Given the description of an element on the screen output the (x, y) to click on. 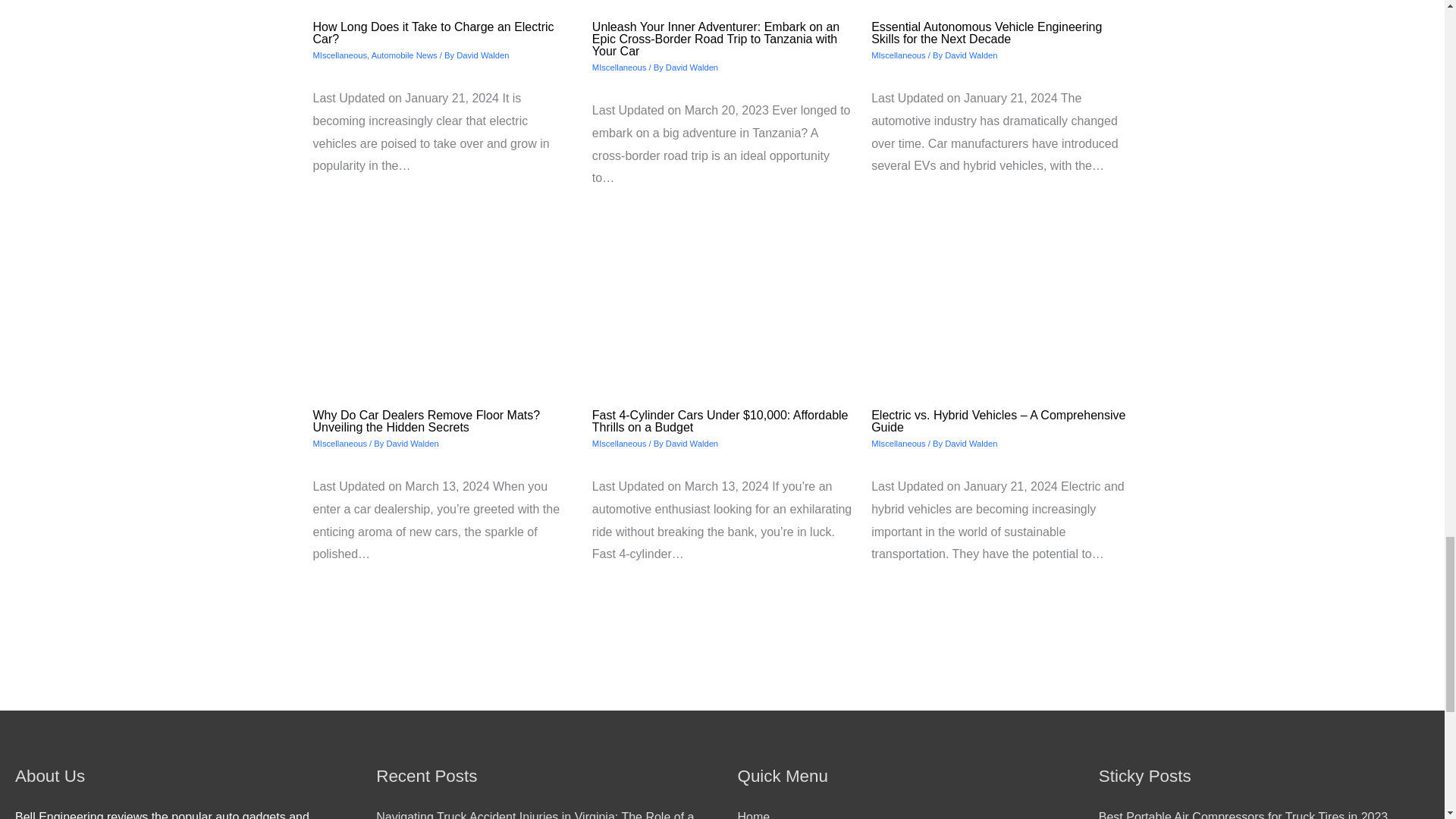
View all posts by David Walden (691, 67)
View all posts by David Walden (970, 442)
View all posts by David Walden (413, 442)
View all posts by David Walden (482, 54)
View all posts by David Walden (691, 442)
View all posts by David Walden (970, 54)
